Given the description of an element on the screen output the (x, y) to click on. 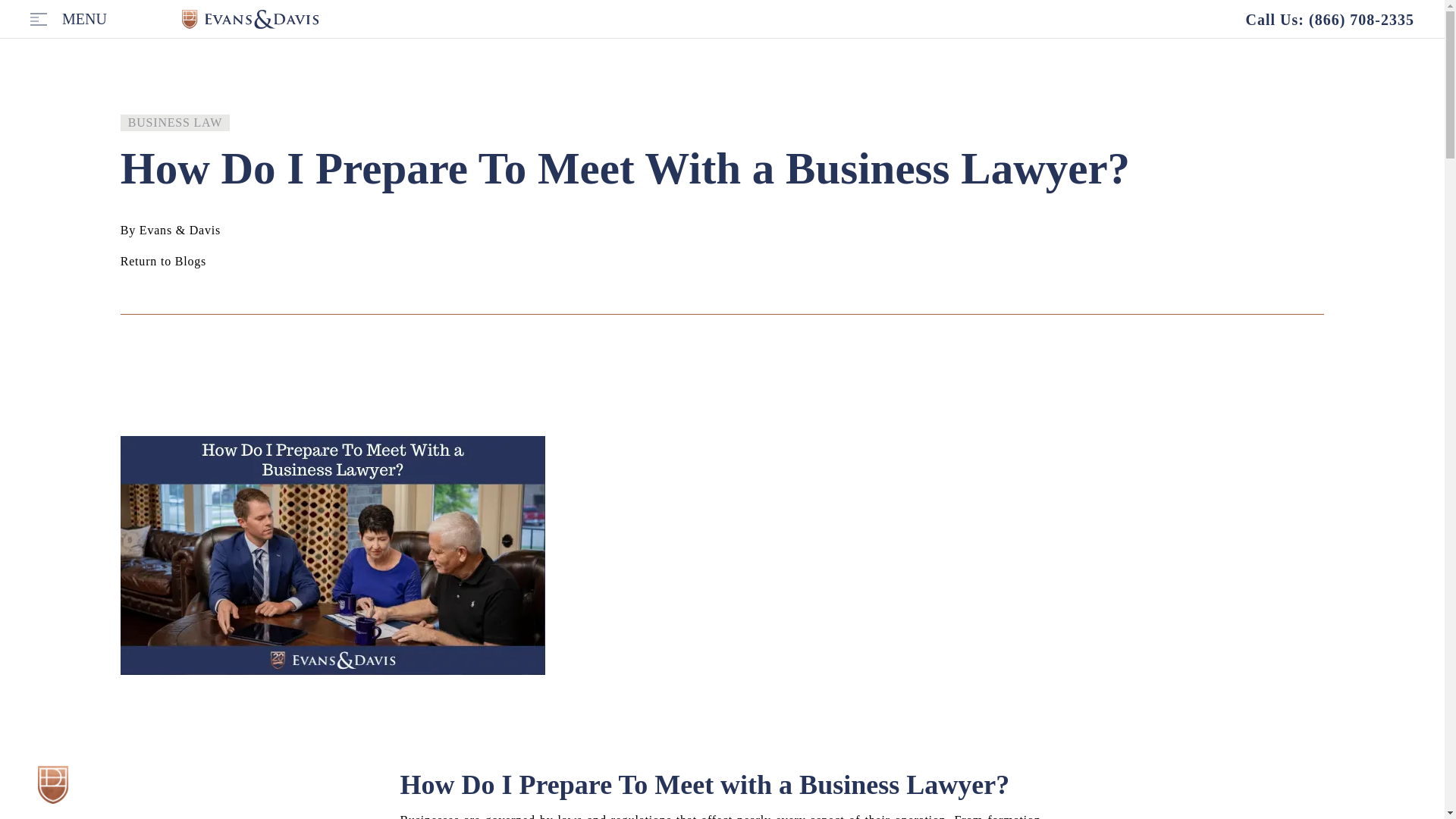
MENU (84, 18)
Return to Blogs (163, 280)
